Given the description of an element on the screen output the (x, y) to click on. 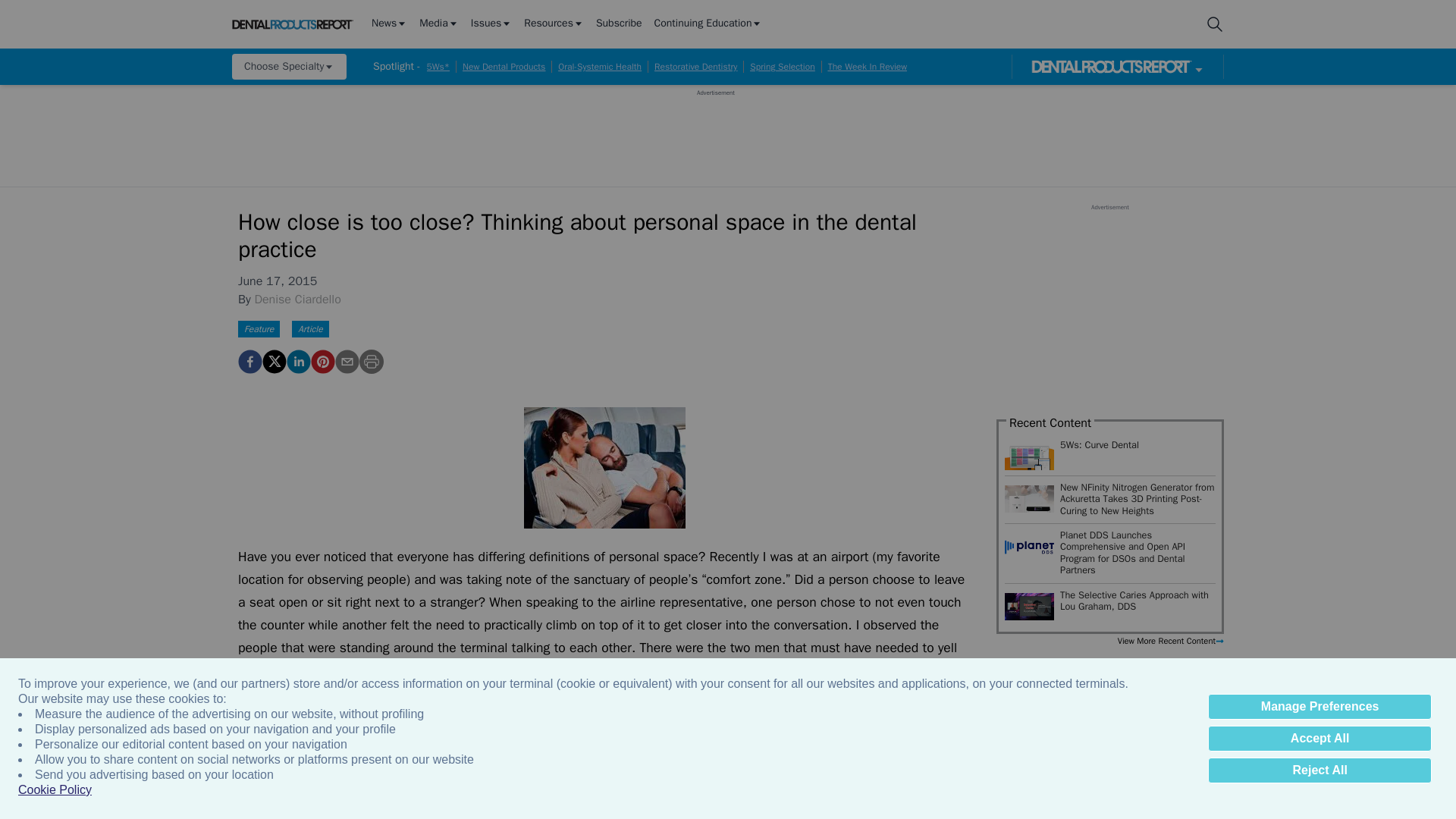
News (389, 23)
Media (438, 23)
Issues (491, 23)
Resources (553, 23)
3rd party ad content (715, 131)
Manage Preferences (1319, 706)
Cookie Policy (54, 789)
Accept All (1319, 738)
Reject All (1319, 769)
